Given the description of an element on the screen output the (x, y) to click on. 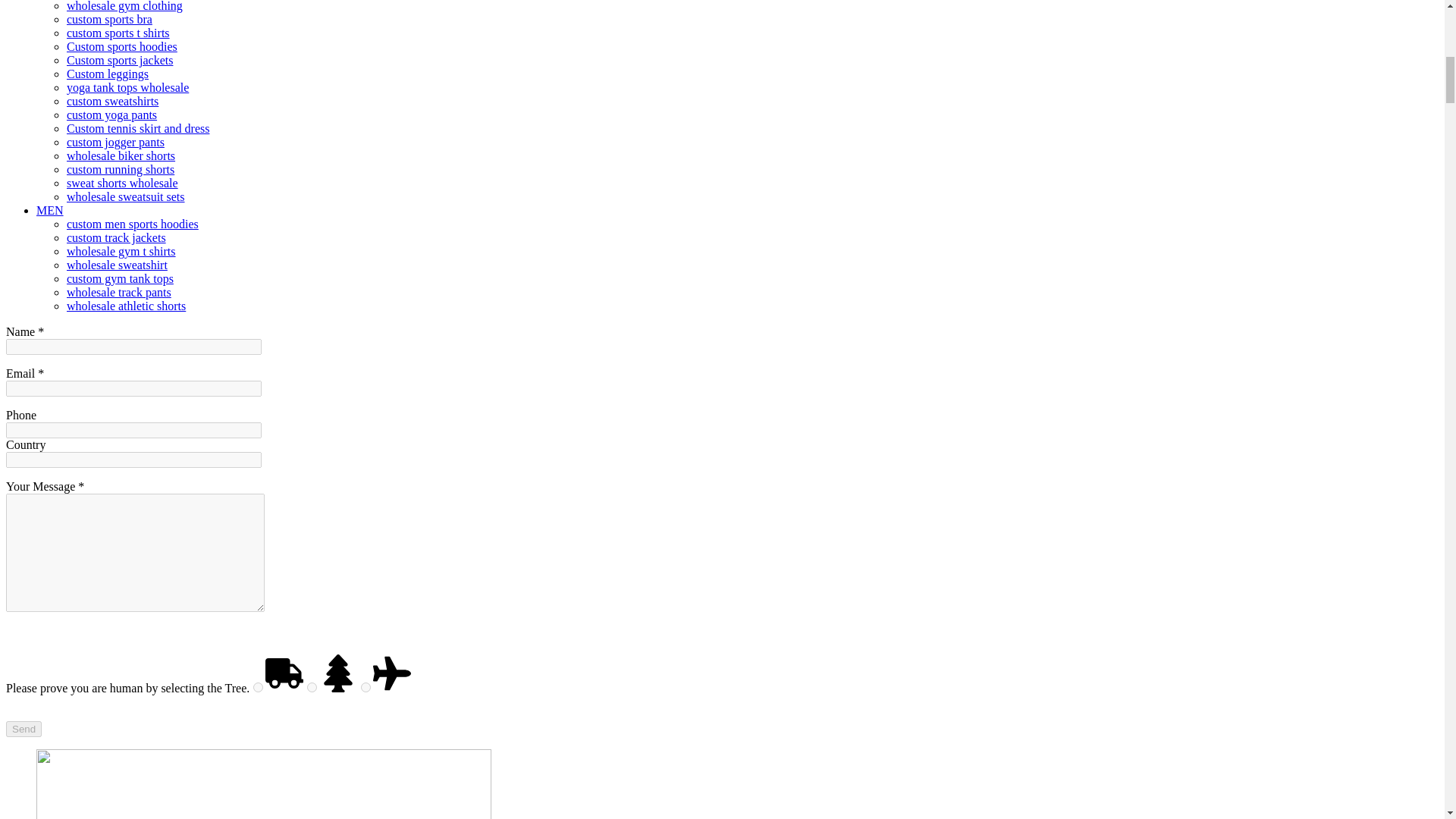
XF210726-4 (264, 784)
Send (23, 729)
bot (366, 687)
bot (258, 687)
